Given the description of an element on the screen output the (x, y) to click on. 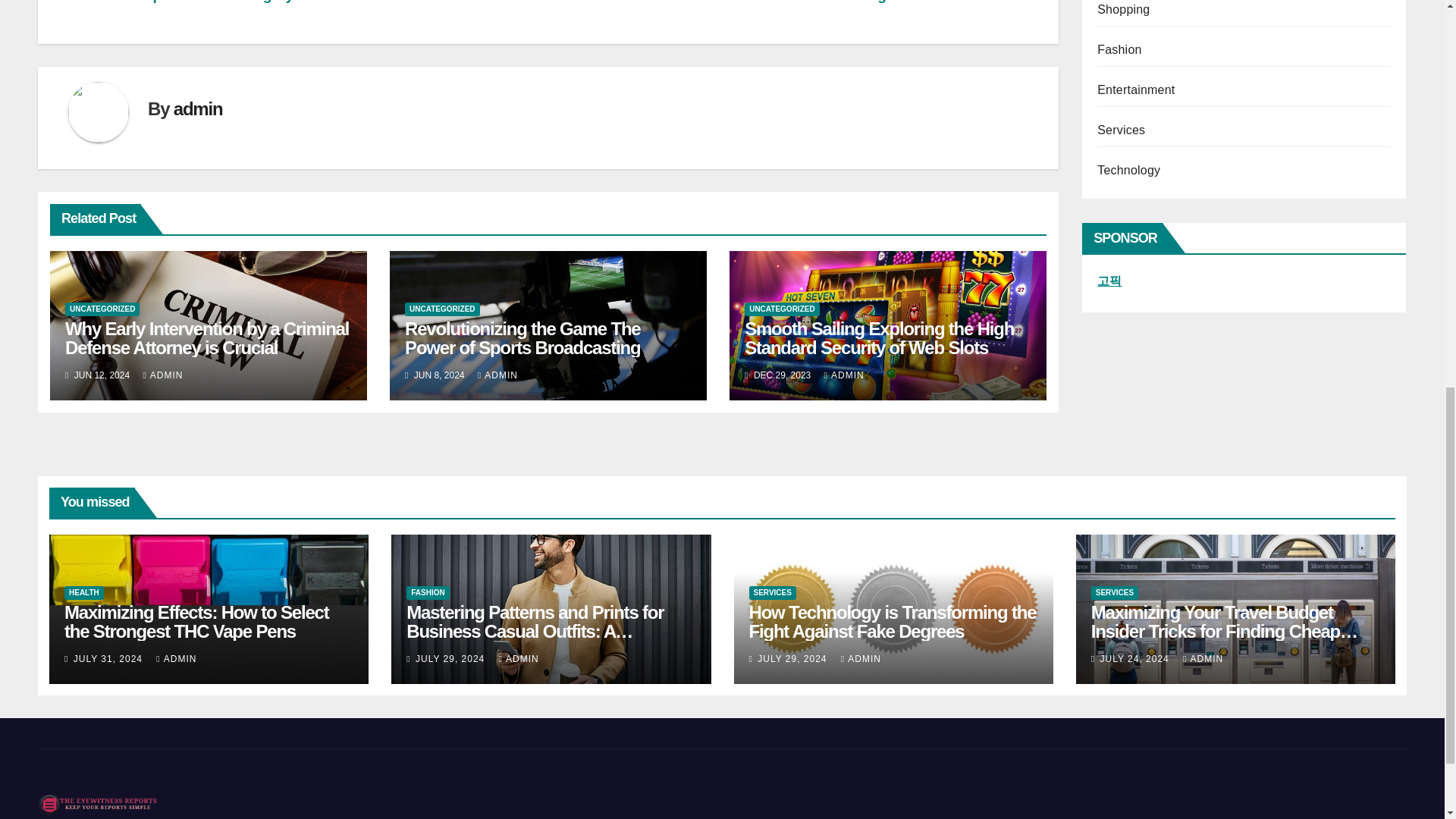
admin (197, 108)
Add These Magnets To Your Casino (905, 1)
UNCATEGORIZED (102, 309)
ADMIN (162, 375)
